Given the description of an element on the screen output the (x, y) to click on. 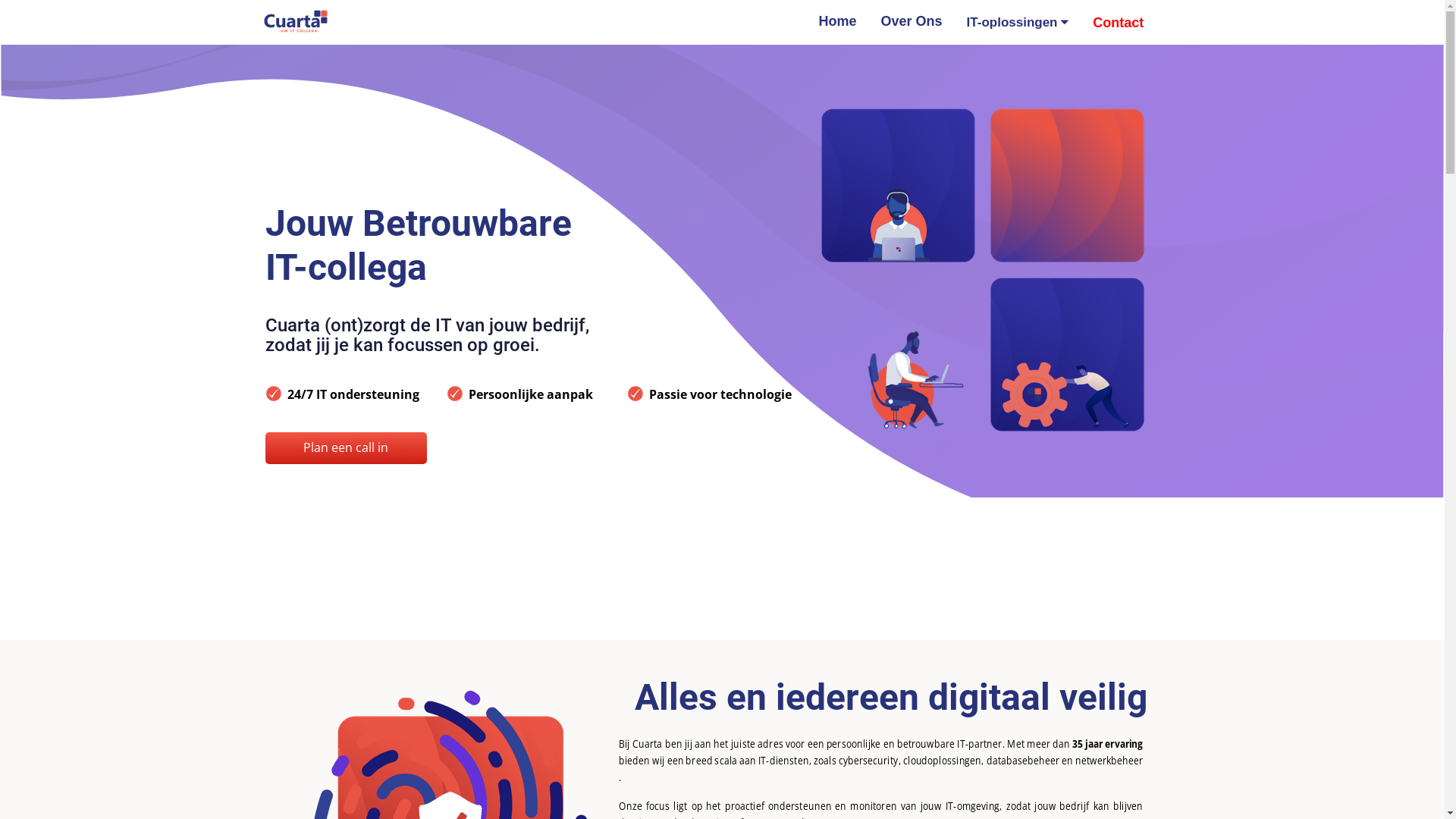
Home Element type: text (837, 21)
Contact Element type: text (1117, 23)
IT-oplossingen Element type: text (1017, 22)
Over Ons Element type: text (911, 21)
Plan een call in Element type: text (345, 448)
Contact Element type: text (1117, 22)
